Given the description of an element on the screen output the (x, y) to click on. 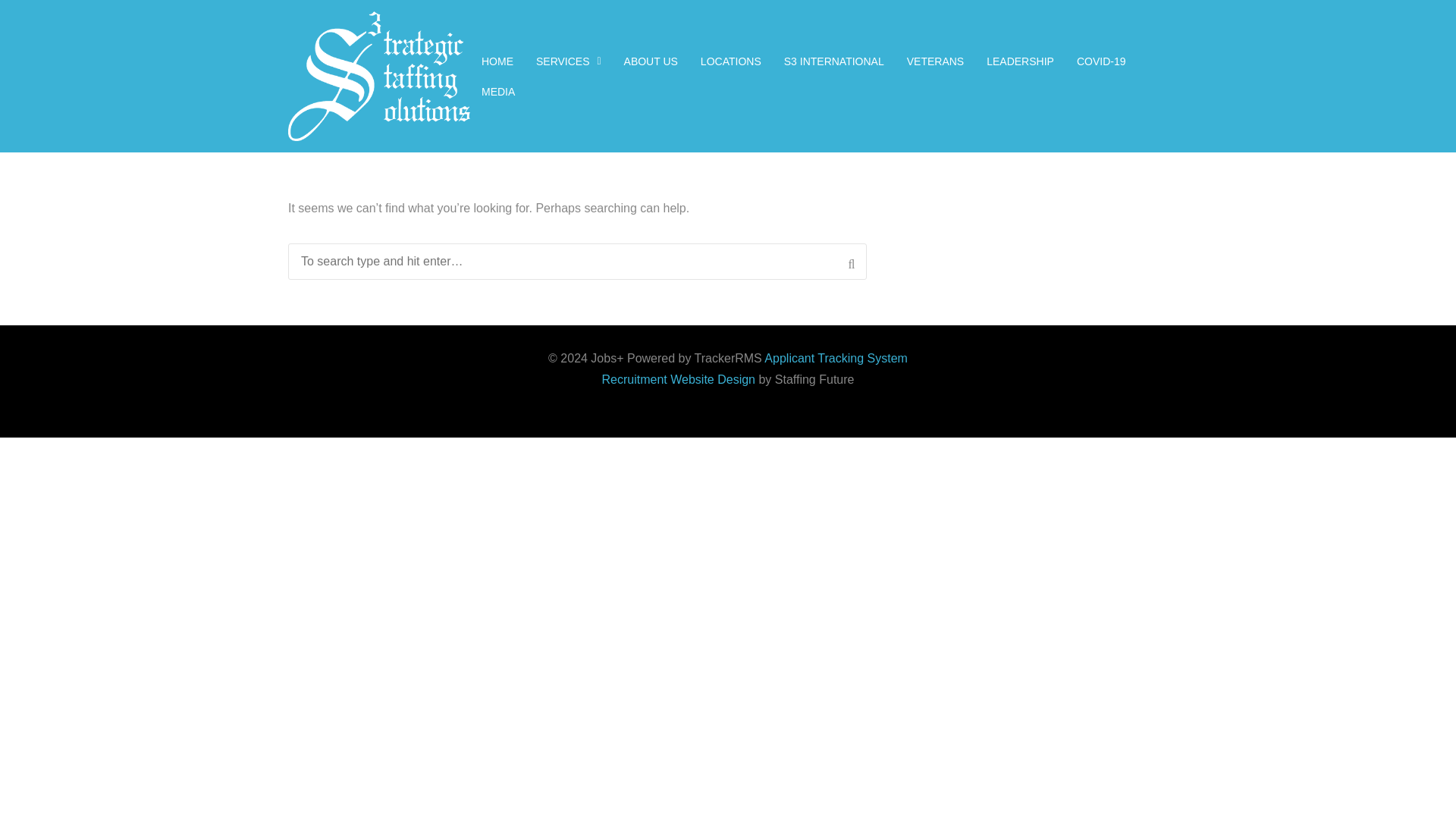
MEDIA (497, 91)
ABOUT US (650, 60)
LOCATIONS (730, 60)
Recruitment Website Design (678, 379)
COVID-19 (1101, 60)
LEADERSHIP (1020, 60)
Applicant Tracking System (835, 358)
SERVICES (568, 60)
HOME (497, 60)
Applicant Tracking System (835, 358)
